Given the description of an element on the screen output the (x, y) to click on. 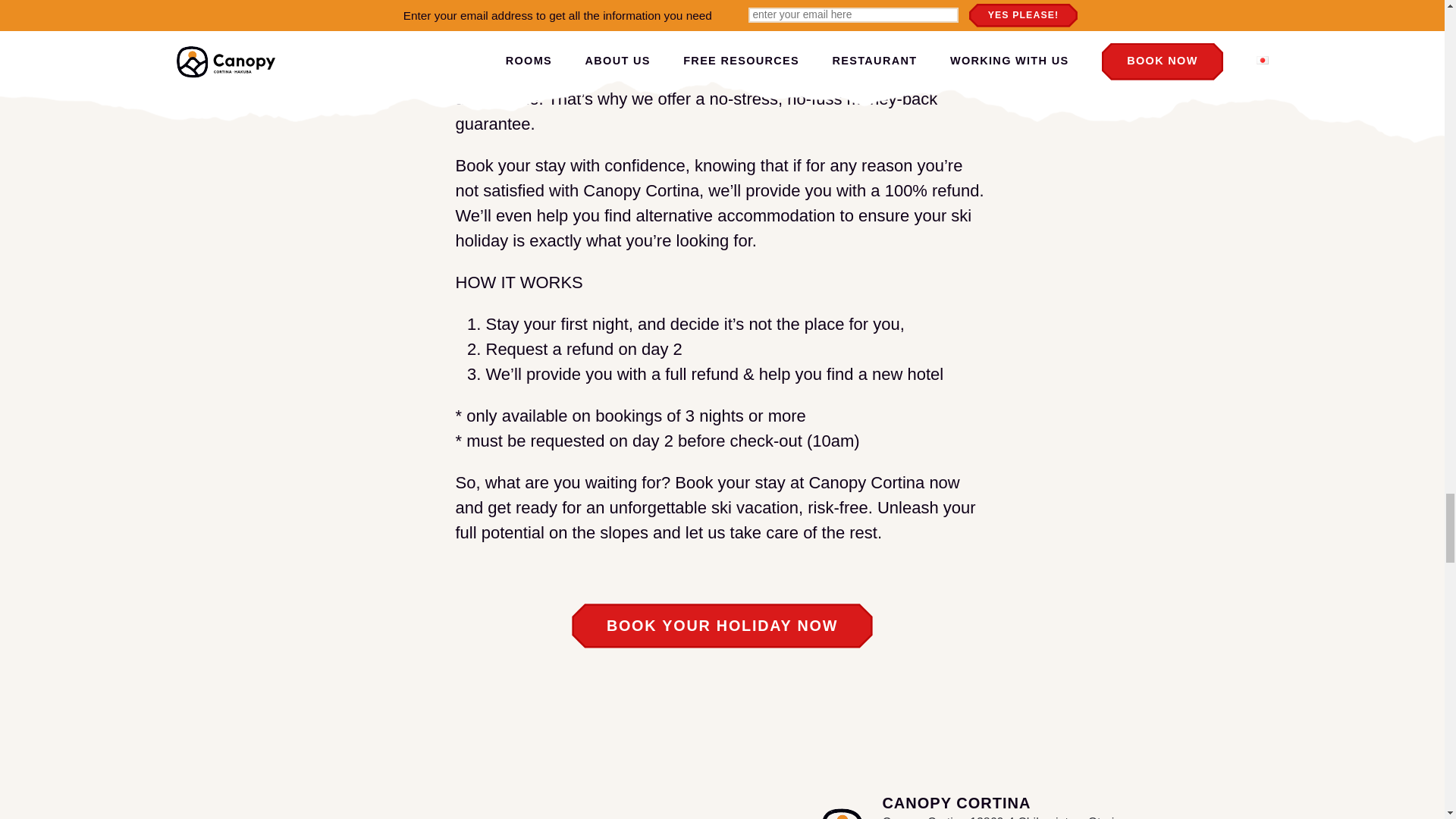
BOOK YOUR HOLIDAY NOW (722, 625)
